Given the description of an element on the screen output the (x, y) to click on. 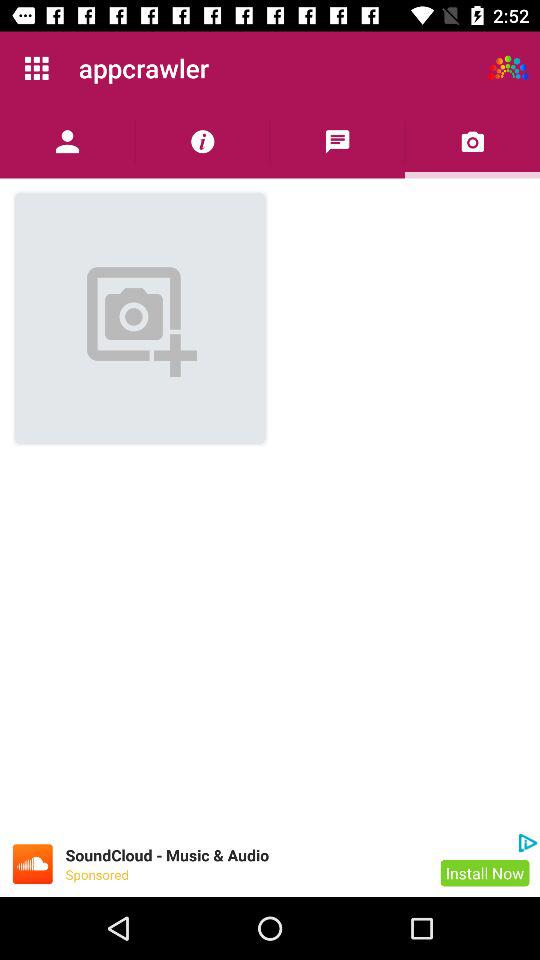
show more information (202, 141)
